Given the description of an element on the screen output the (x, y) to click on. 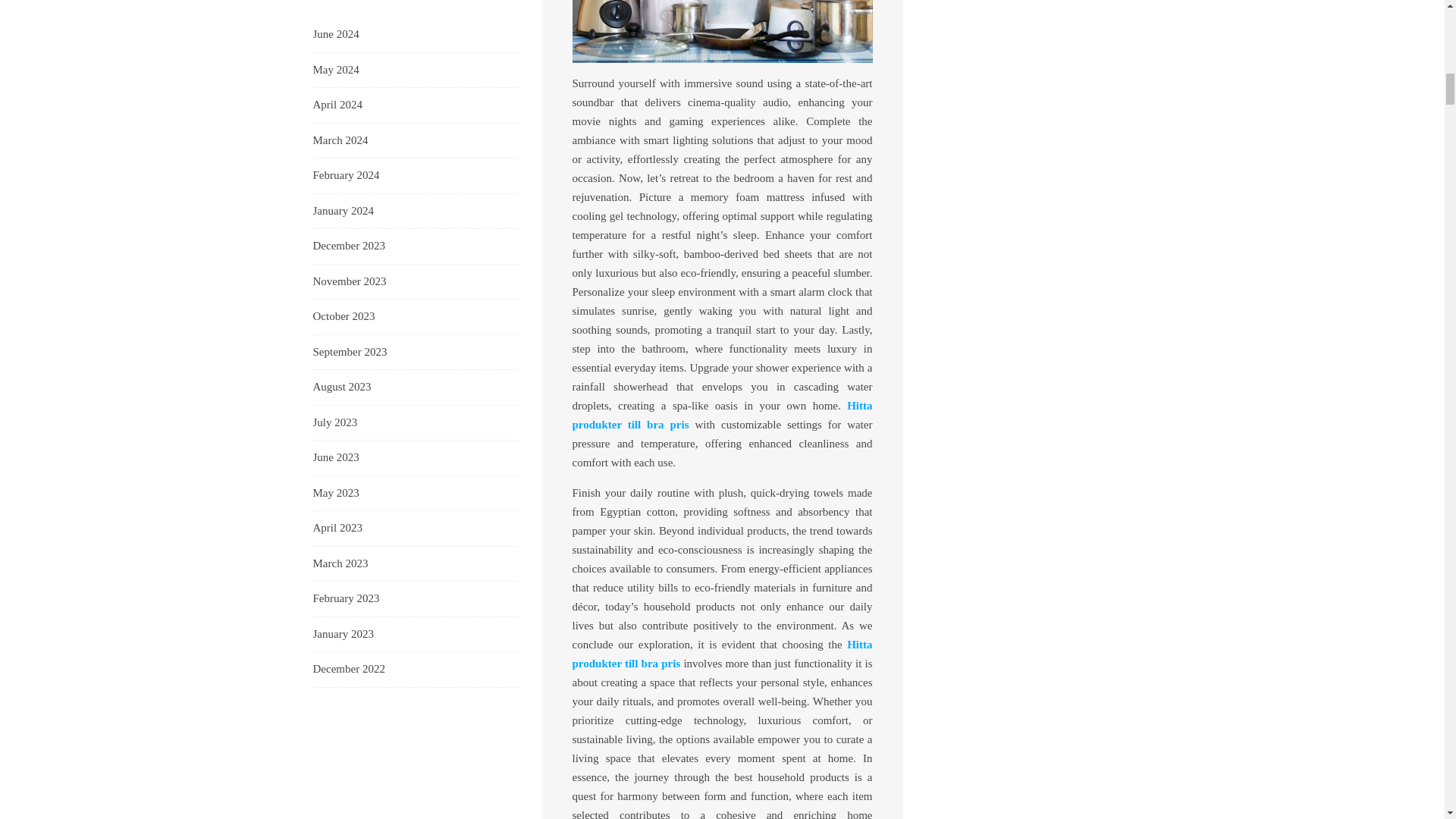
August 2023 (342, 387)
February 2023 (345, 598)
June 2023 (335, 457)
April 2024 (337, 105)
April 2023 (337, 528)
May 2023 (335, 492)
March 2023 (340, 564)
December 2022 (348, 669)
June 2024 (335, 34)
July 2023 (334, 422)
May 2024 (335, 69)
January 2023 (342, 633)
February 2024 (345, 175)
October 2023 (343, 316)
December 2023 (348, 246)
